Given the description of an element on the screen output the (x, y) to click on. 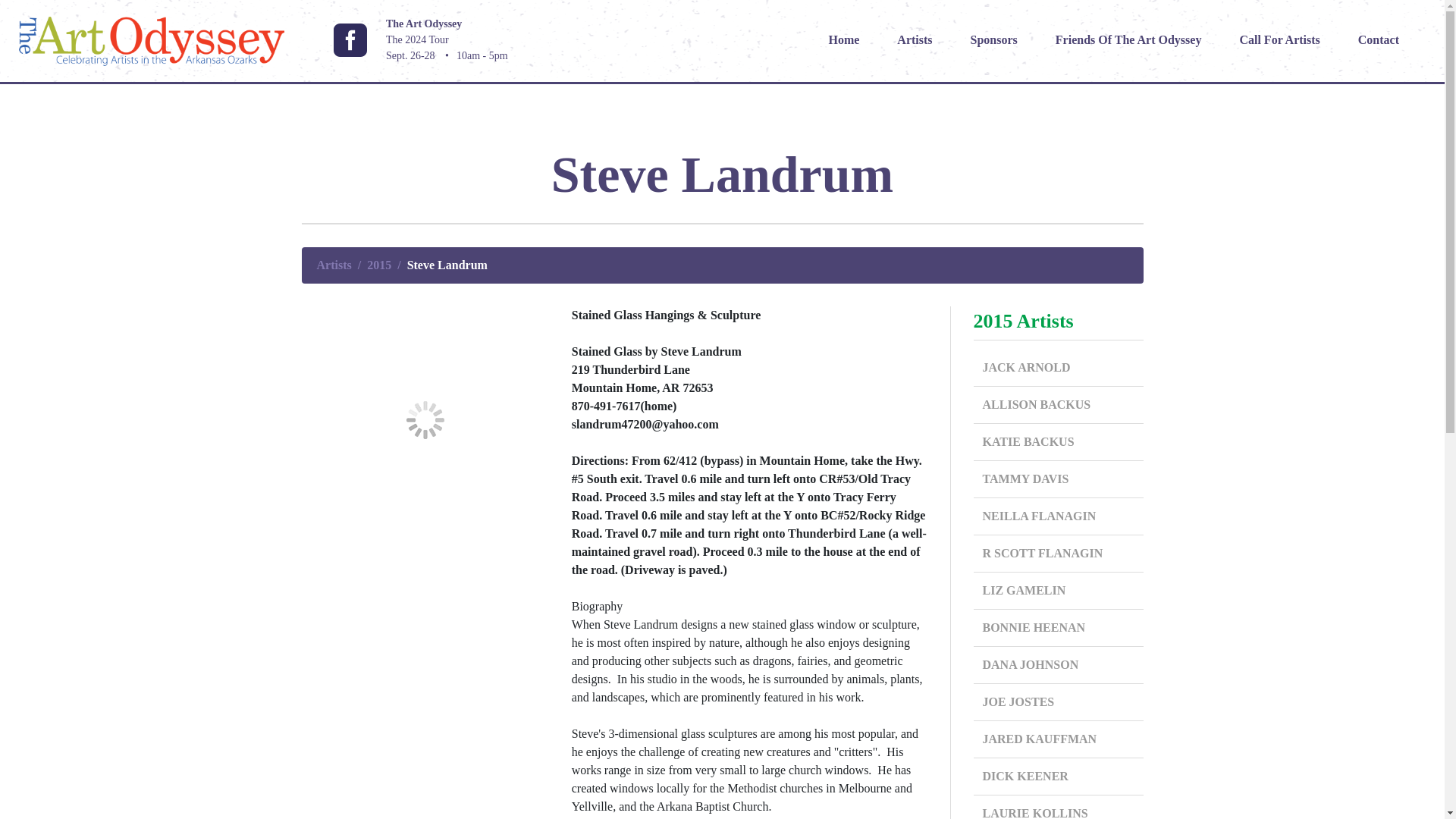
R SCOTT FLANAGIN (1058, 553)
2015 (378, 264)
JACK ARNOLD (1058, 367)
LAURIE KOLLINS (1058, 807)
Friends Of The Art Odyssey (1128, 39)
NEILLA FLANAGIN (1058, 516)
KATIE BACKUS (1058, 442)
LIZ GAMELIN (1058, 590)
Artists (334, 264)
BONNIE HEENAN (1058, 628)
